Given the description of an element on the screen output the (x, y) to click on. 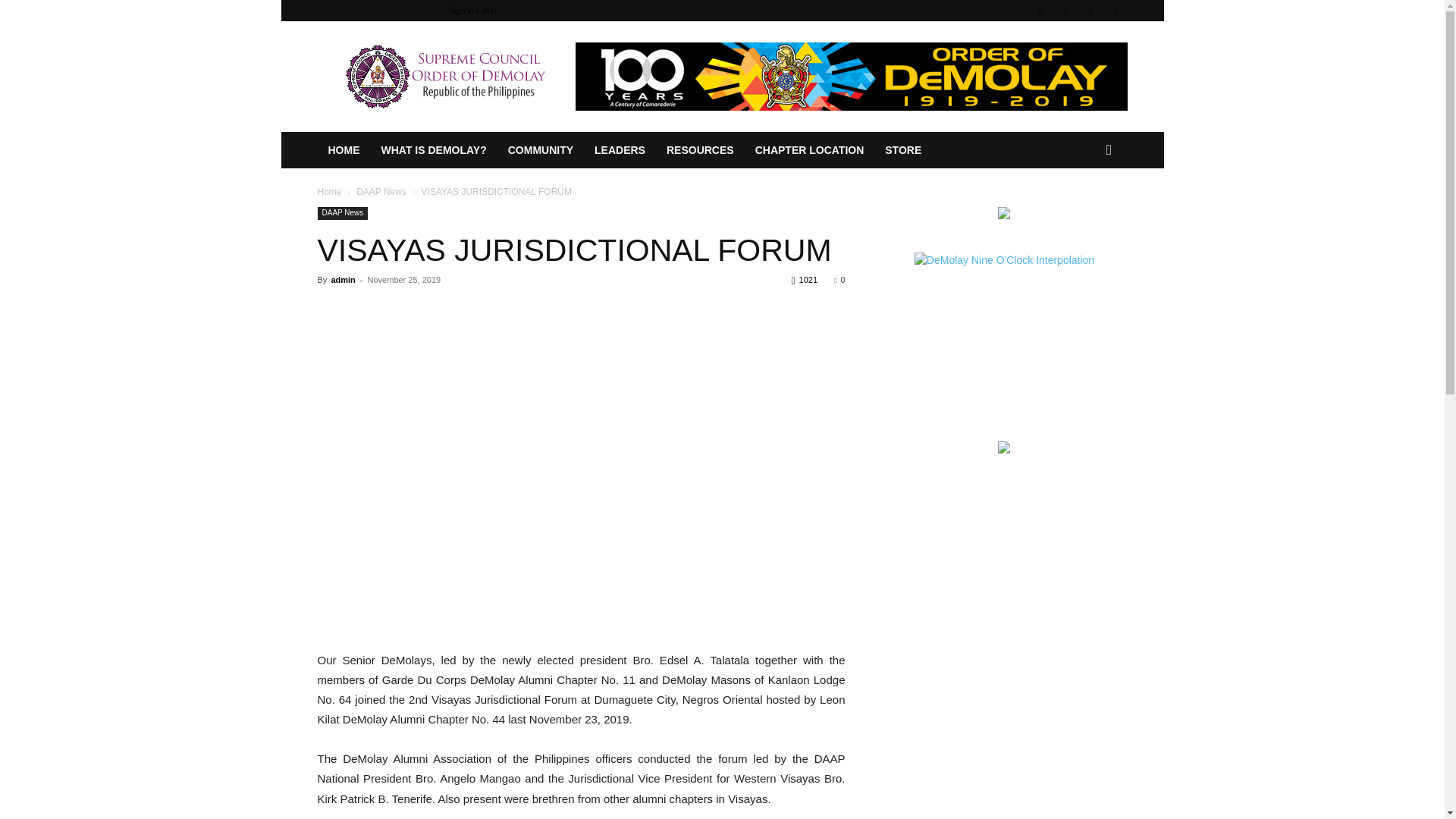
Instagram (1065, 10)
View all posts in DAAP News (381, 191)
Facebook (1040, 10)
Youtube (1114, 10)
Twitter (1090, 10)
